Given the description of an element on the screen output the (x, y) to click on. 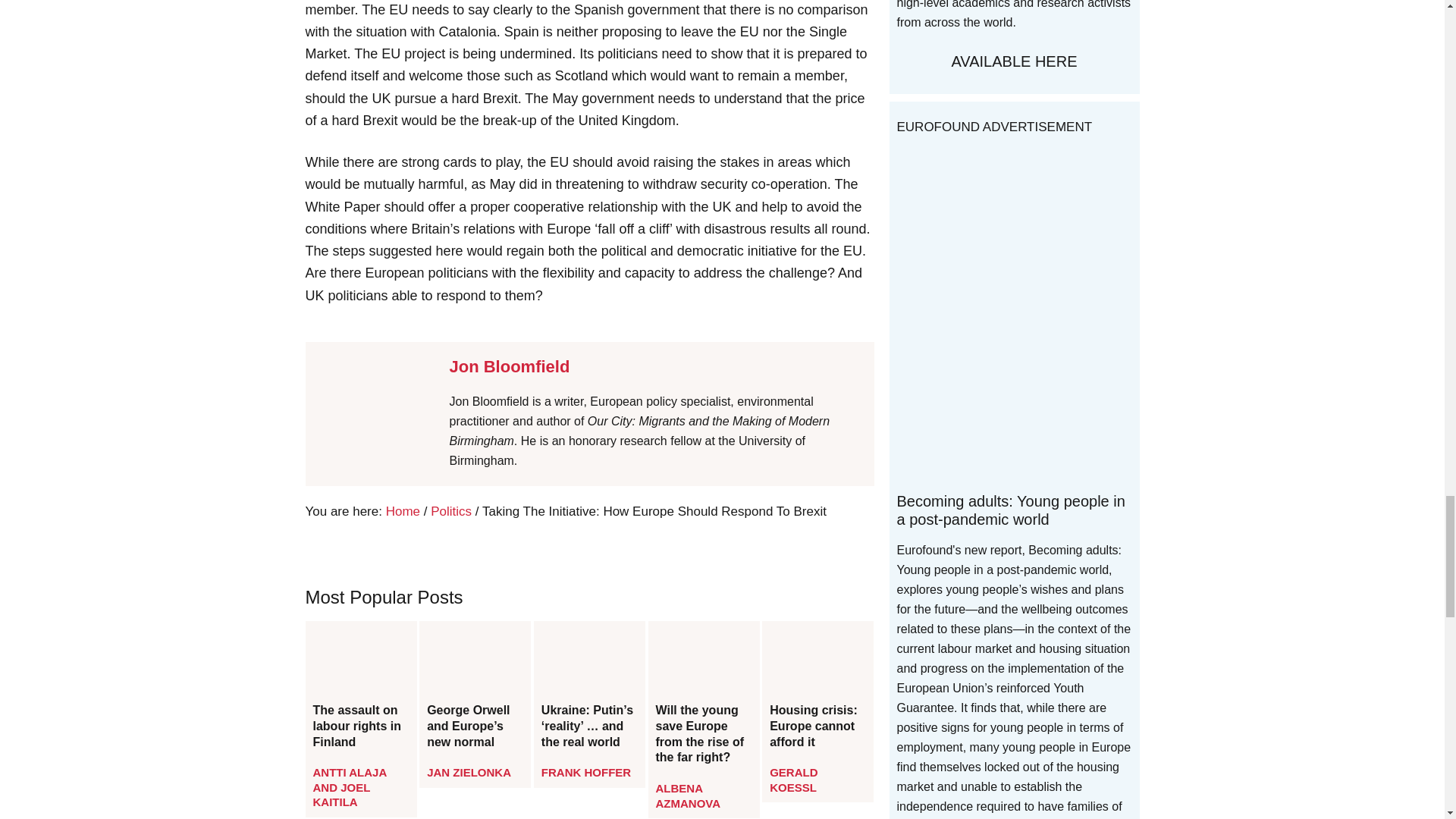
Antti Alaja and Joel Kaitila (349, 786)
GERALD KOESSL (793, 779)
Albena Azmanova (688, 795)
The assault on labour rights in Finland (360, 726)
JAN ZIELONKA (468, 771)
ANTTI ALAJA AND JOEL KAITILA (349, 786)
Will the young save Europe from the rise of the far right? (703, 734)
Jon Bloomfield (508, 366)
FRANK HOFFER (585, 771)
Home (402, 511)
